Given the description of an element on the screen output the (x, y) to click on. 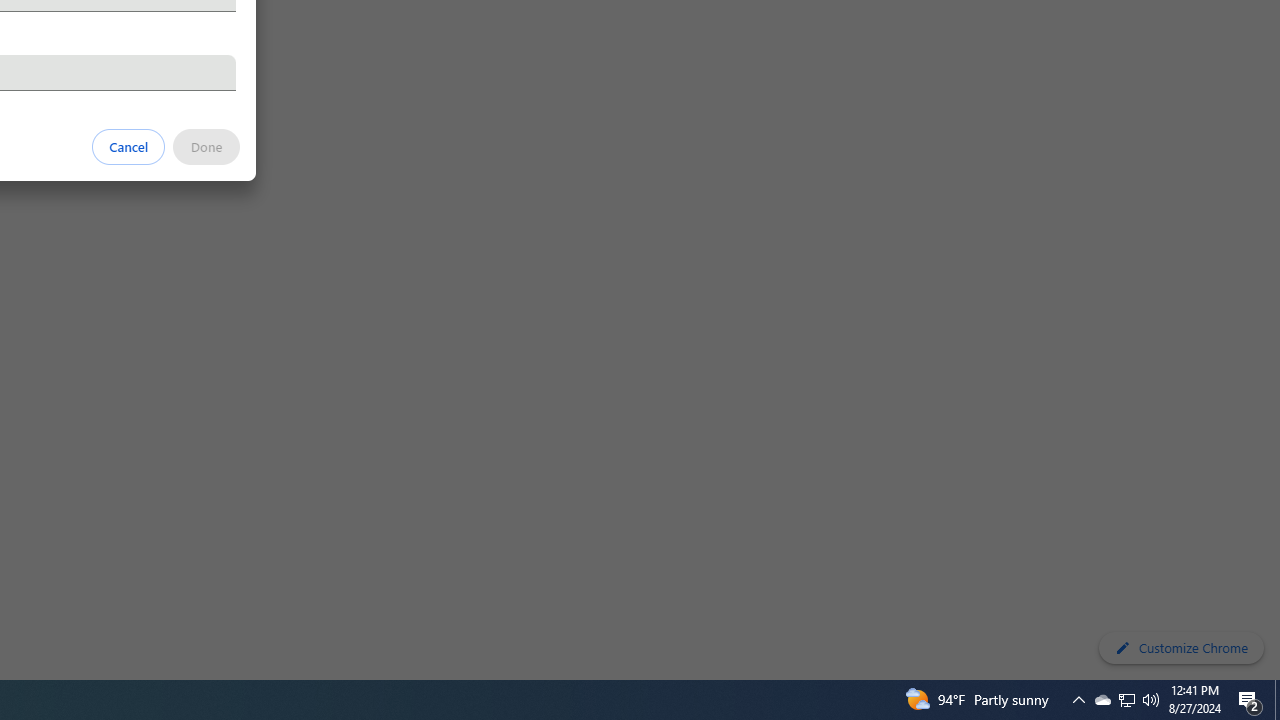
Cancel (129, 146)
Done (206, 146)
